Given the description of an element on the screen output the (x, y) to click on. 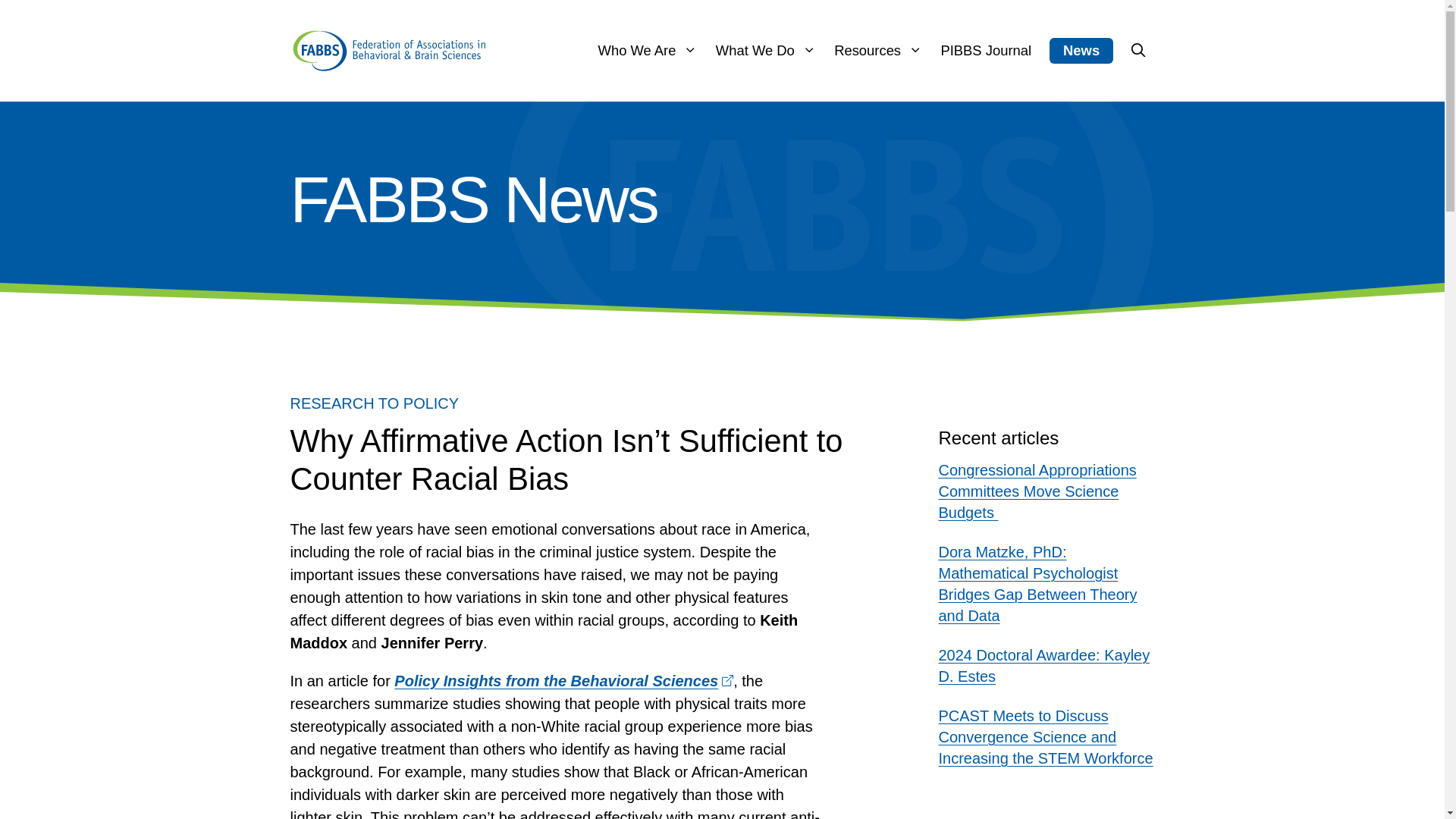
Who We Are (647, 50)
What We Do (765, 50)
Resources (878, 50)
